Given the description of an element on the screen output the (x, y) to click on. 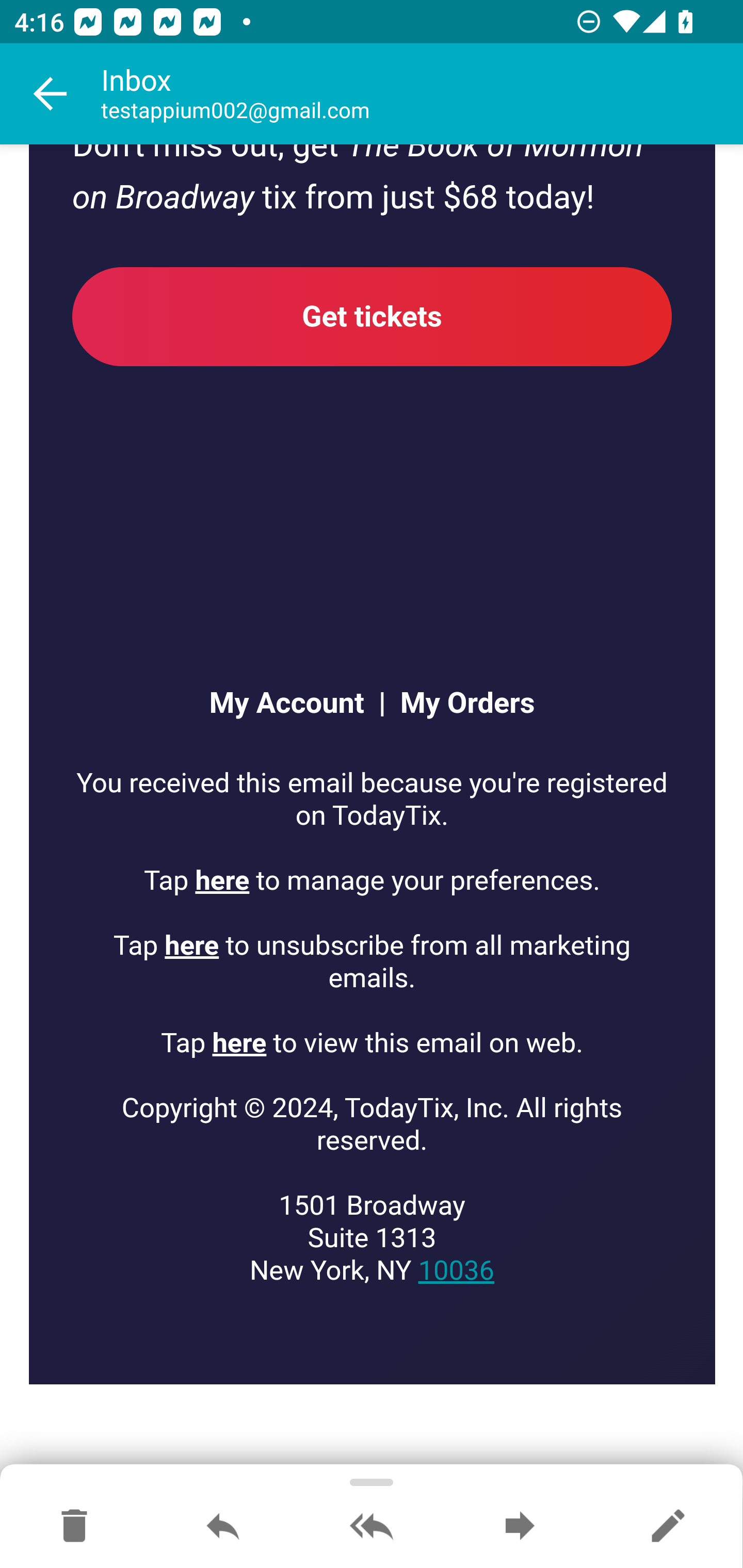
Navigate up (50, 93)
Inbox testappium002@gmail.com (422, 93)
Get tickets (372, 317)
My Account  | (296, 704)
  My Orders (460, 704)
here (222, 880)
here (192, 946)
here (239, 1044)
10036 (455, 1271)
Move to Deleted (74, 1527)
Reply (222, 1527)
Reply all (371, 1527)
Forward (519, 1527)
Reply as new (667, 1527)
